Given the description of an element on the screen output the (x, y) to click on. 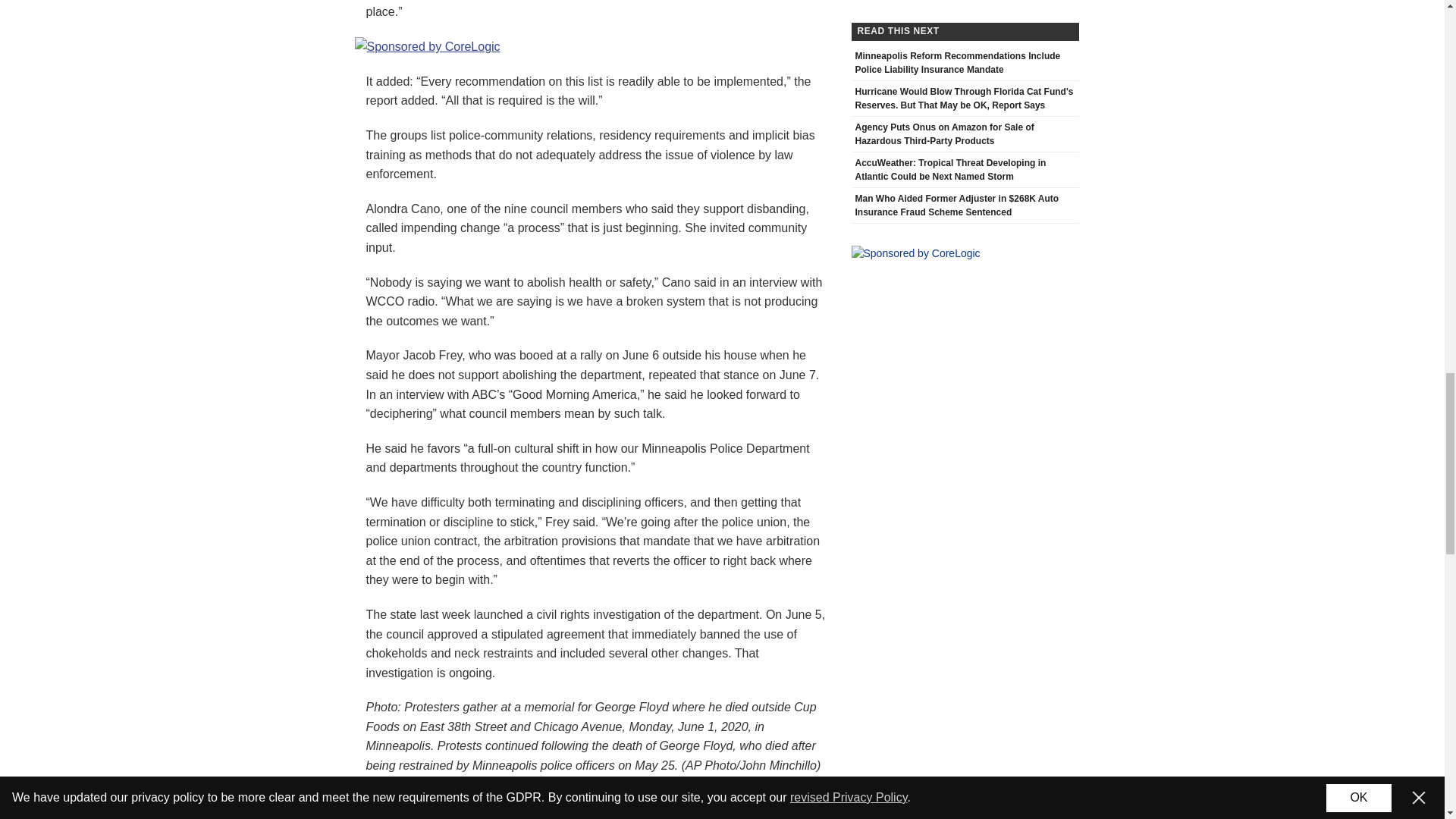
Sponsored by CoreLogic (427, 46)
